Given the description of an element on the screen output the (x, y) to click on. 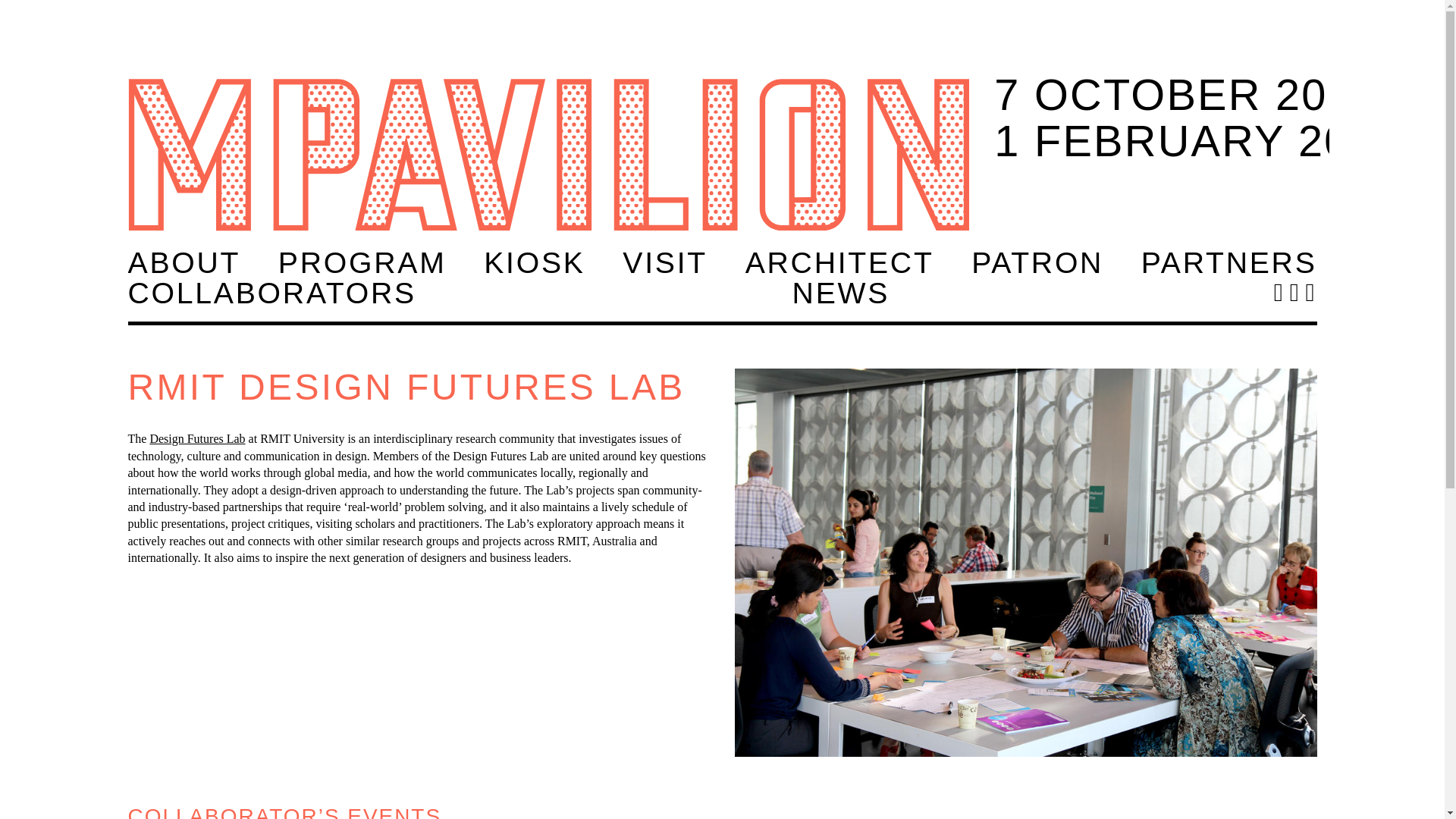
ABOUT (184, 262)
FOLLOW US ON (1307, 295)
KIOSK (1037, 262)
PROGRAM (534, 262)
ARCHITECT (362, 262)
VISIT (839, 262)
NEWS (665, 262)
PARTNERS (840, 292)
